Given the description of an element on the screen output the (x, y) to click on. 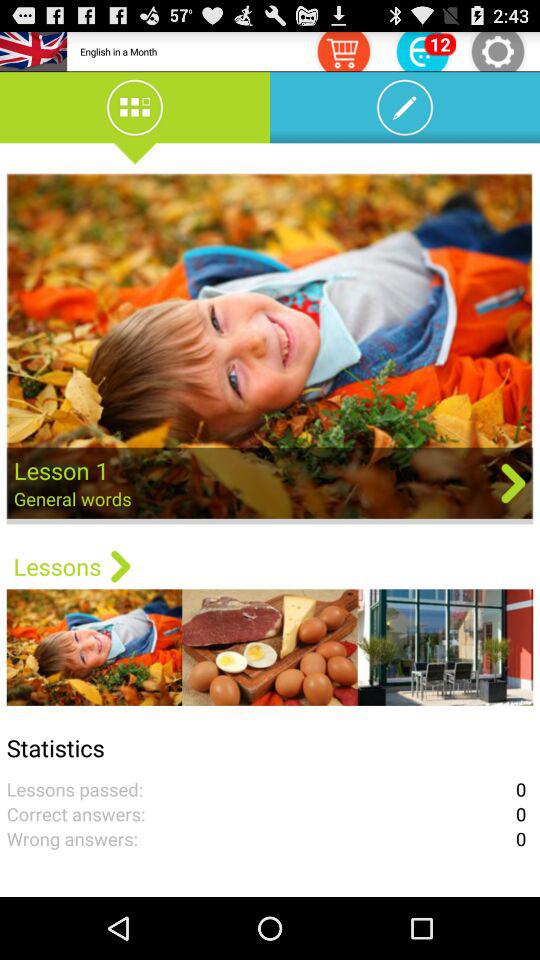
shop button (343, 50)
